Given the description of an element on the screen output the (x, y) to click on. 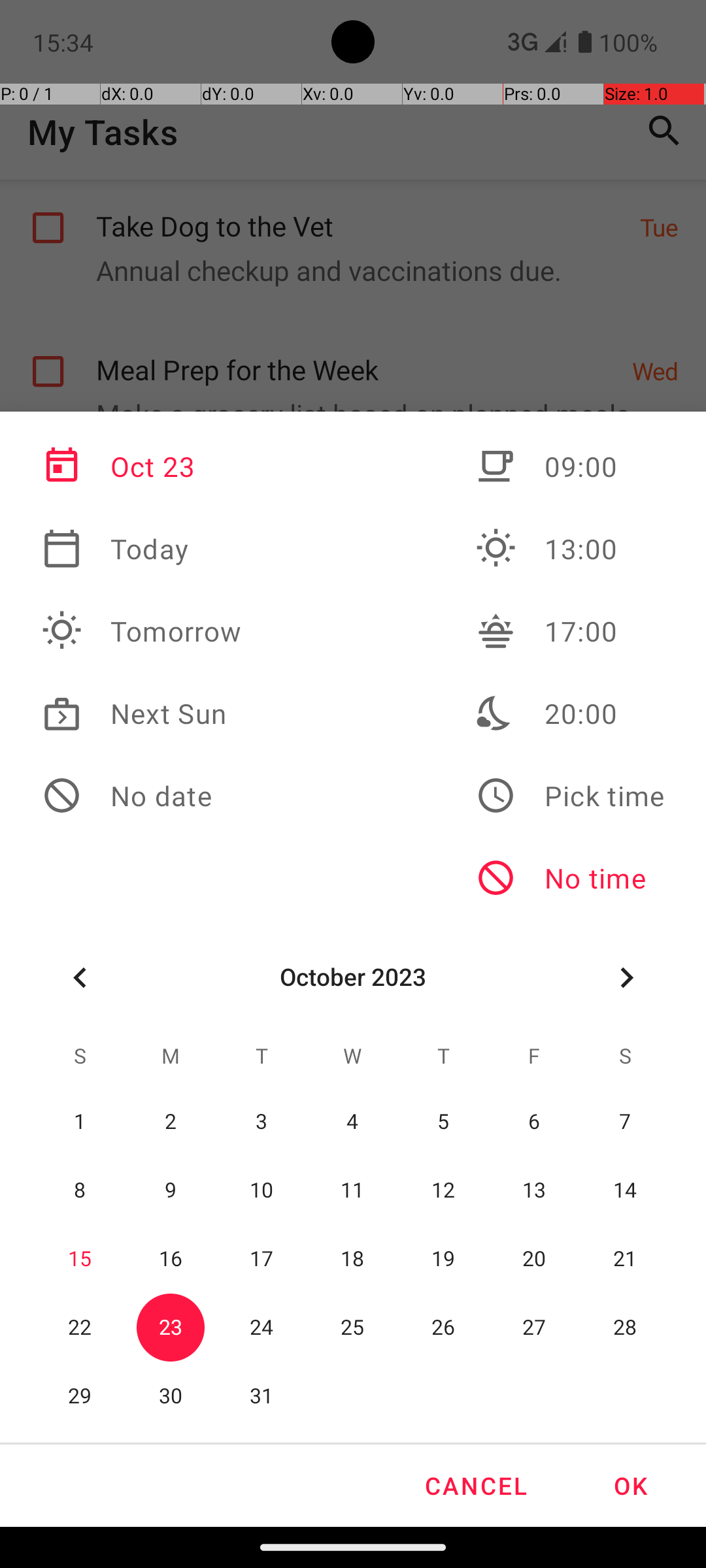
Oct 23 Element type: android.widget.CompoundButton (141, 466)
Tomorrow Element type: android.widget.CompoundButton (141, 630)
Next Sun Element type: android.widget.CompoundButton (141, 713)
No date Element type: android.widget.CompoundButton (141, 795)
20:00 Element type: android.widget.CompoundButton (569, 713)
No time Element type: android.widget.CompoundButton (569, 877)
